Given the description of an element on the screen output the (x, y) to click on. 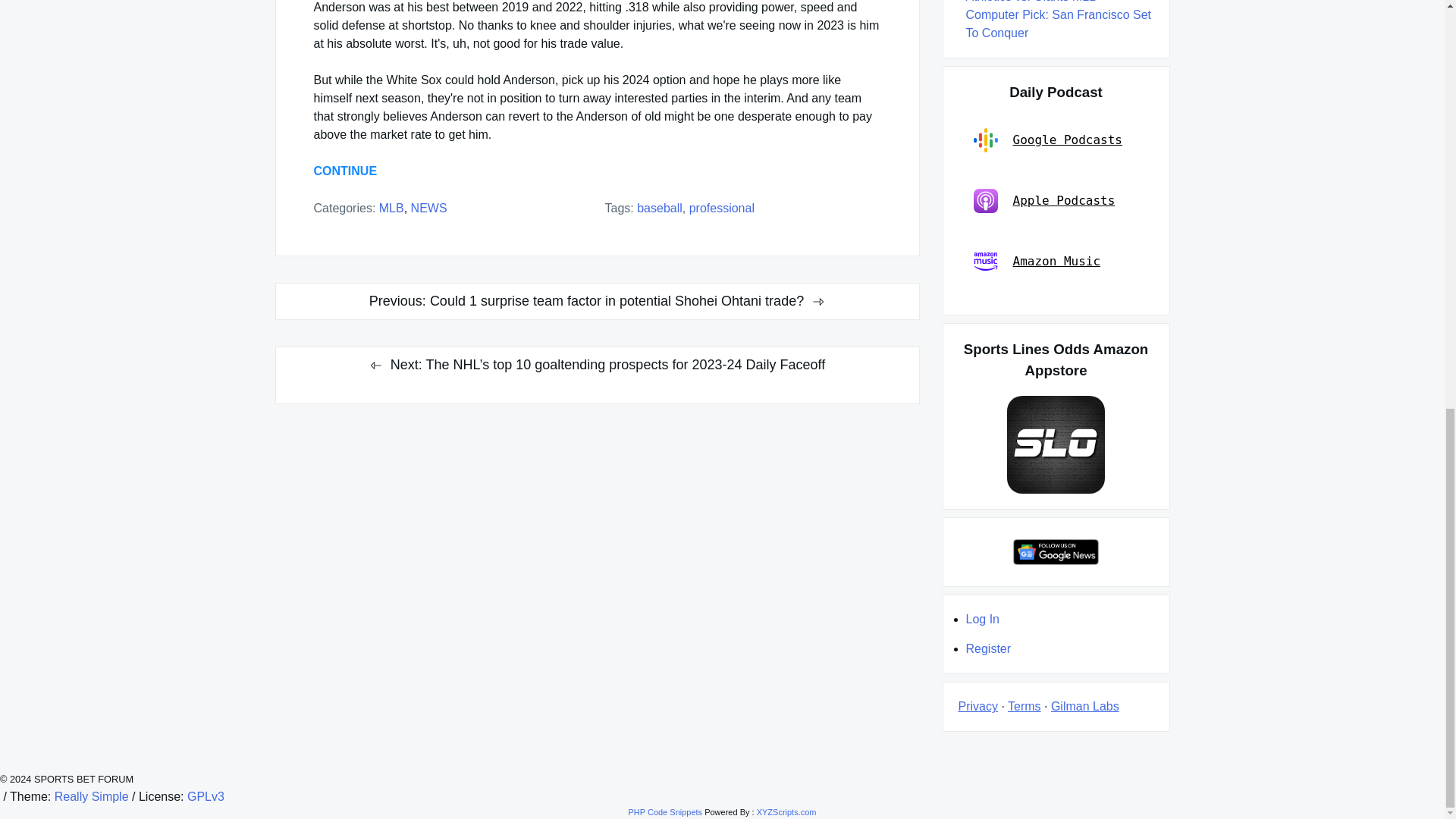
Insert PHP Snippet Wordpress Plugin (664, 811)
CONTINUE (345, 170)
NEWS (428, 207)
MLB (391, 207)
baseball (659, 207)
professional (721, 207)
